Given the description of an element on the screen output the (x, y) to click on. 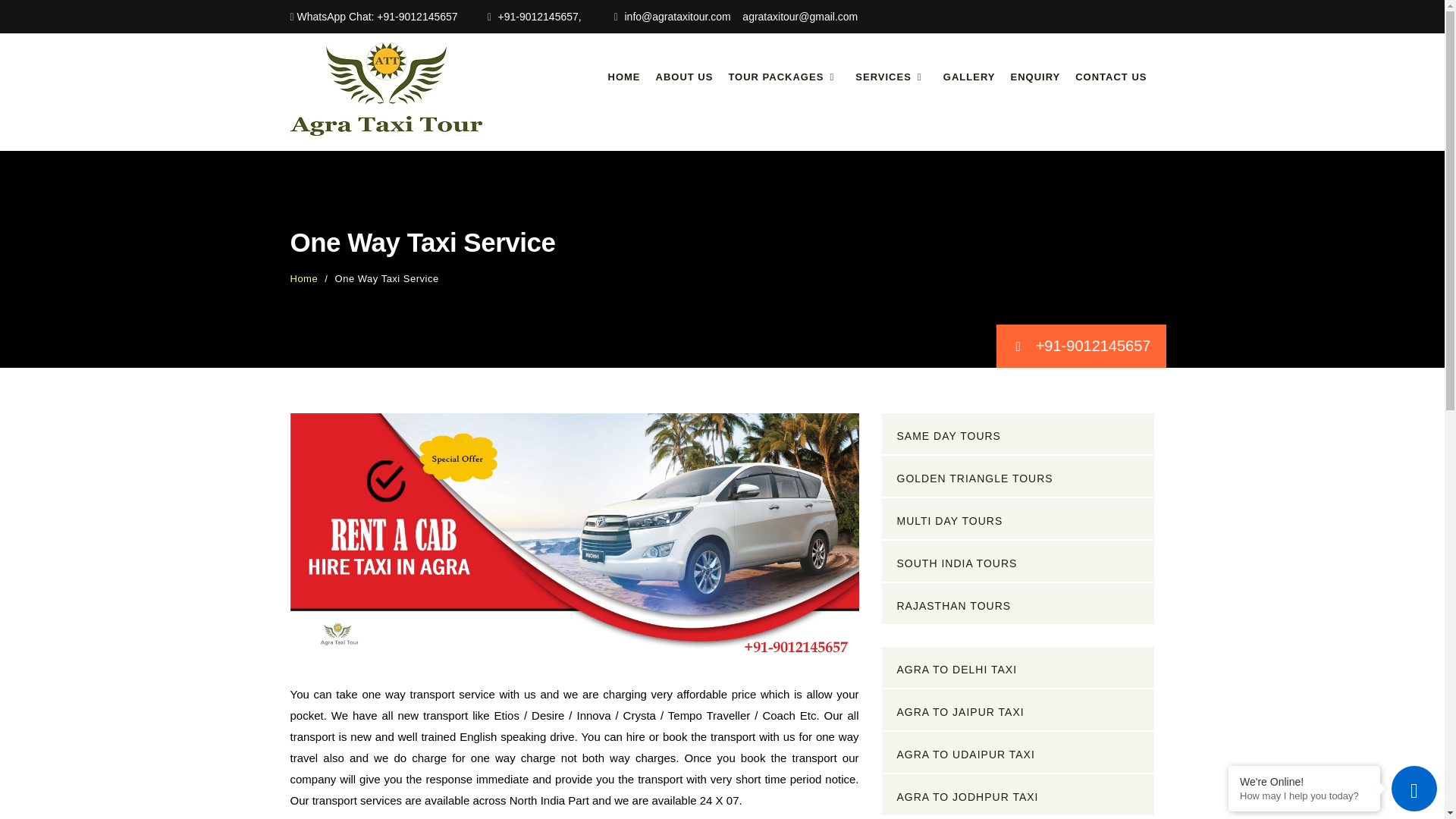
SERVICES (891, 76)
How may I help you today? (1304, 795)
CONTACT US (1110, 76)
SOUTH INDIA TOURS (1017, 560)
AGRA TO JODHPUR TAXI (1017, 793)
AGRA TO JAIPUR TAXI (1017, 709)
ENQUIRY (1035, 76)
RAJASTHAN TOURS (1017, 603)
We're Online! (1304, 781)
AGRA TO UDAIPUR TAXI (1017, 752)
MULTI DAY TOURS (1017, 517)
GALLERY (969, 76)
AGRA TO DELHI TAXI (1017, 667)
TOUR PACKAGES (783, 76)
HOME (623, 76)
